Given the description of an element on the screen output the (x, y) to click on. 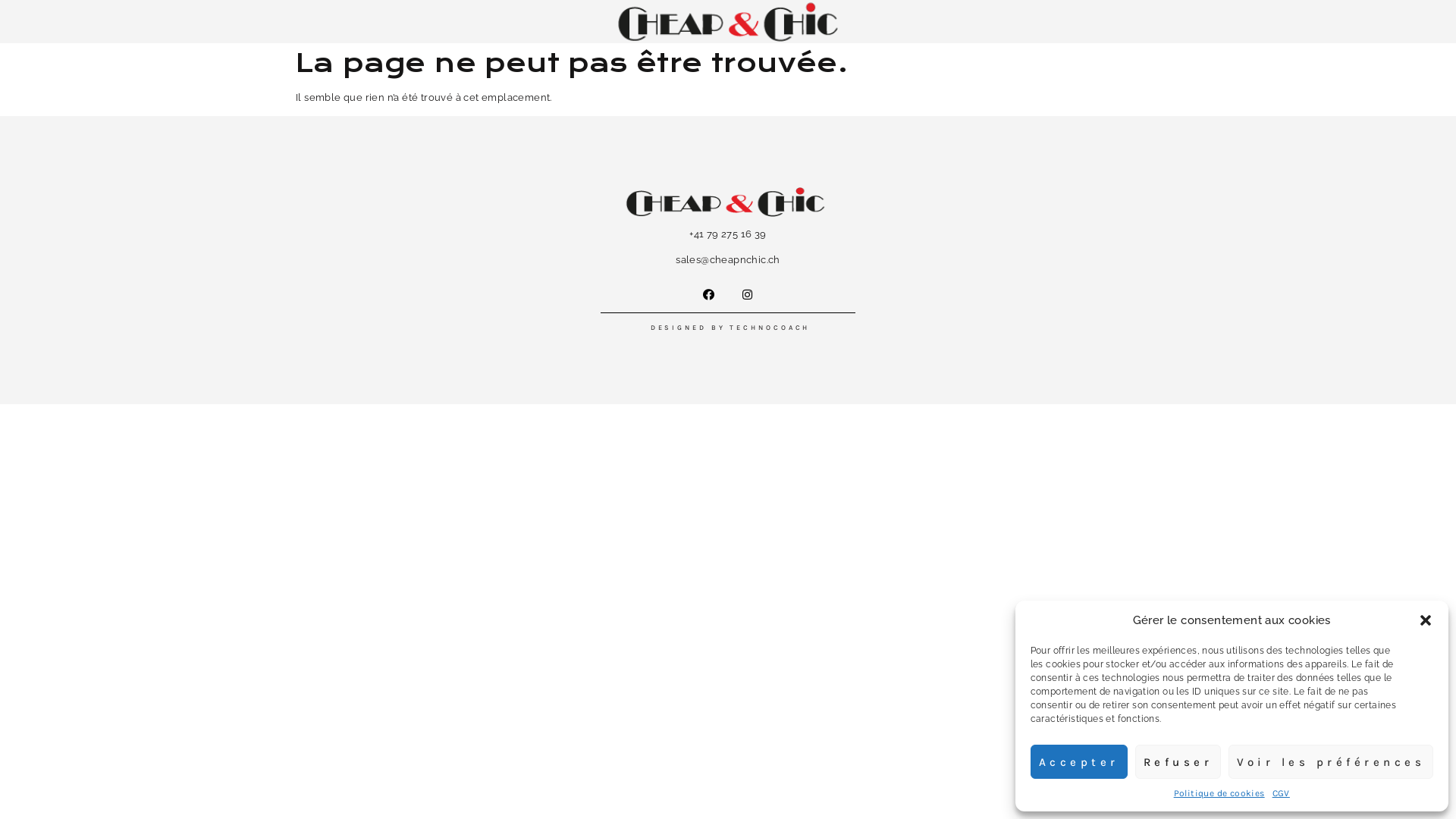
Politique de cookies Element type: text (1218, 793)
CGV Element type: text (1280, 793)
Accepter Element type: text (1077, 761)
Refuser Element type: text (1177, 761)
